Given the description of an element on the screen output the (x, y) to click on. 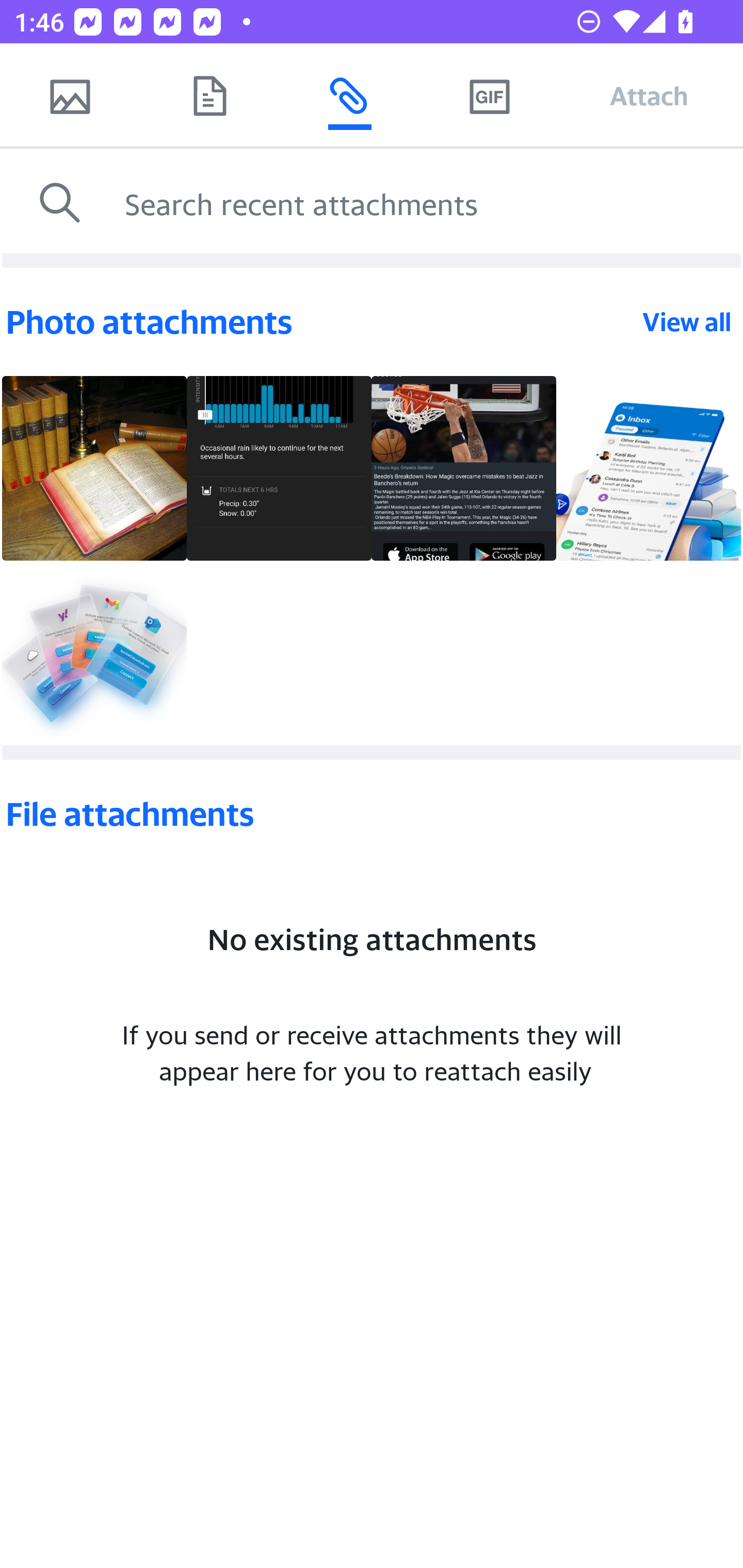
Camera photos (69, 95)
Device files (209, 95)
Recent attachments from mail (349, 95)
GIFs (489, 95)
Attach (649, 95)
Search recent attachments (428, 203)
Photo attachments (321, 322)
View all (686, 321)
1280px-Latin_dictionary.jpg (94, 468)
image_20240305_1027737217200605633124.jpg (278, 468)
1758438839.jpg (463, 468)
wm-hero.png (648, 468)
wm-hero-mo.png (94, 652)
File attachments (371, 813)
